Given the description of an element on the screen output the (x, y) to click on. 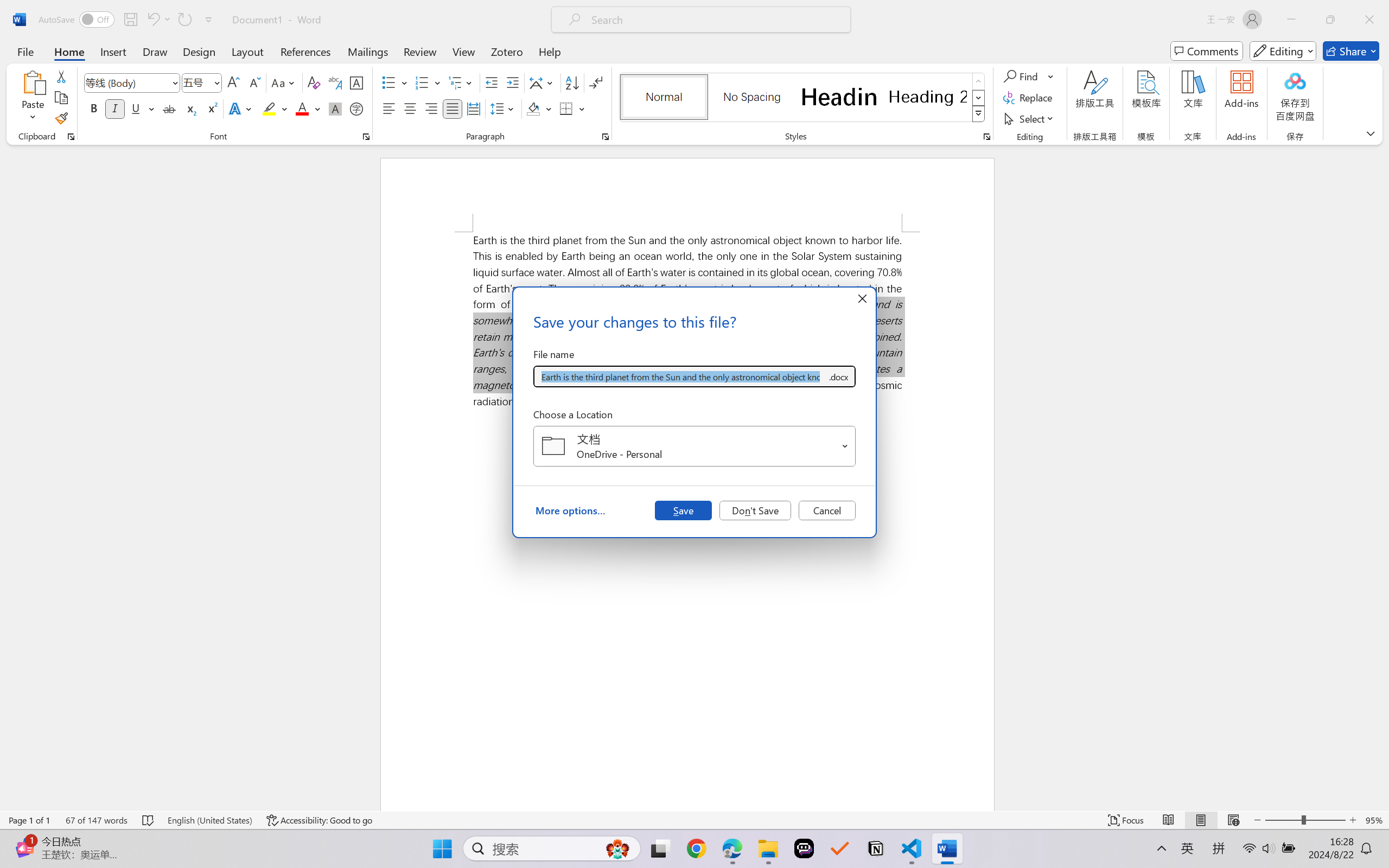
Cancel (826, 509)
Character Border (356, 82)
Zoom 95% (1374, 819)
AutomationID: QuickStylesGallery (802, 97)
Font... (365, 136)
Help (549, 51)
Office Clipboard... (70, 136)
Center (409, 108)
Show/Hide Editing Marks (595, 82)
